Given the description of an element on the screen output the (x, y) to click on. 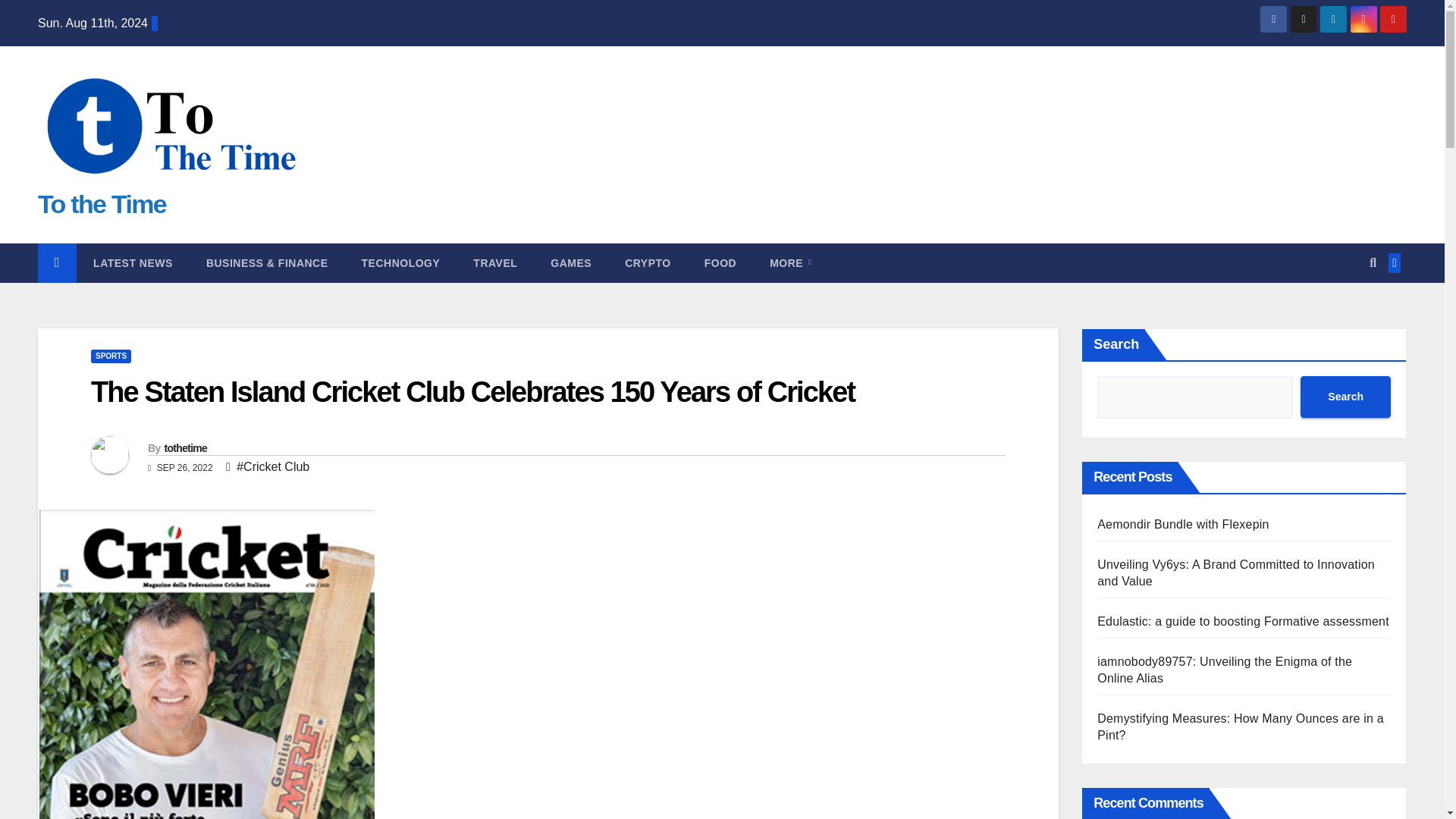
Crypto (647, 262)
To the Time (101, 203)
GAMES (571, 262)
Latest News (133, 262)
TECHNOLOGY (401, 262)
SPORTS (110, 356)
Games (571, 262)
Technology (401, 262)
Travel (495, 262)
